Given the description of an element on the screen output the (x, y) to click on. 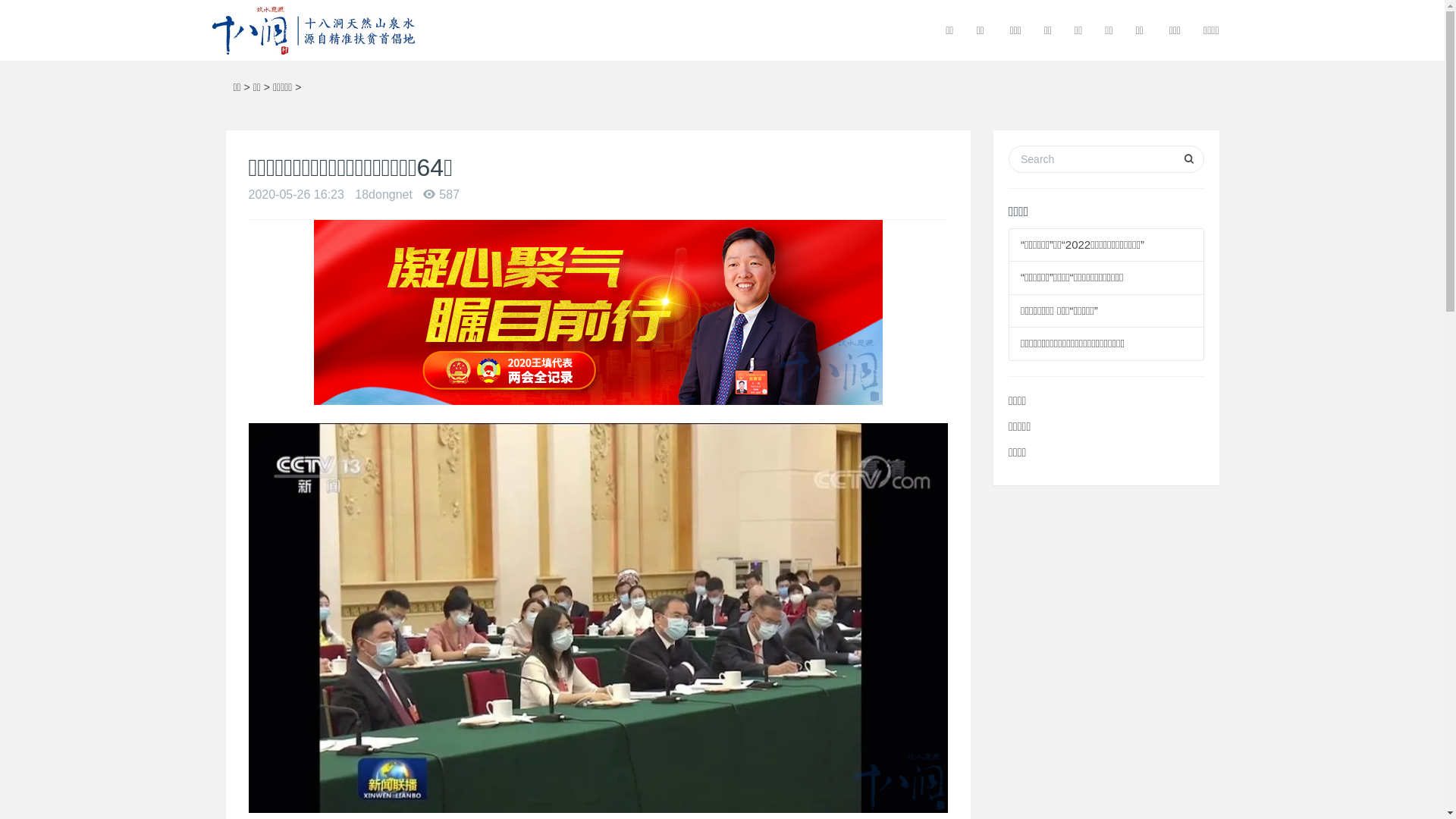
res017 Element type: hover (311, 30)
